Given the description of an element on the screen output the (x, y) to click on. 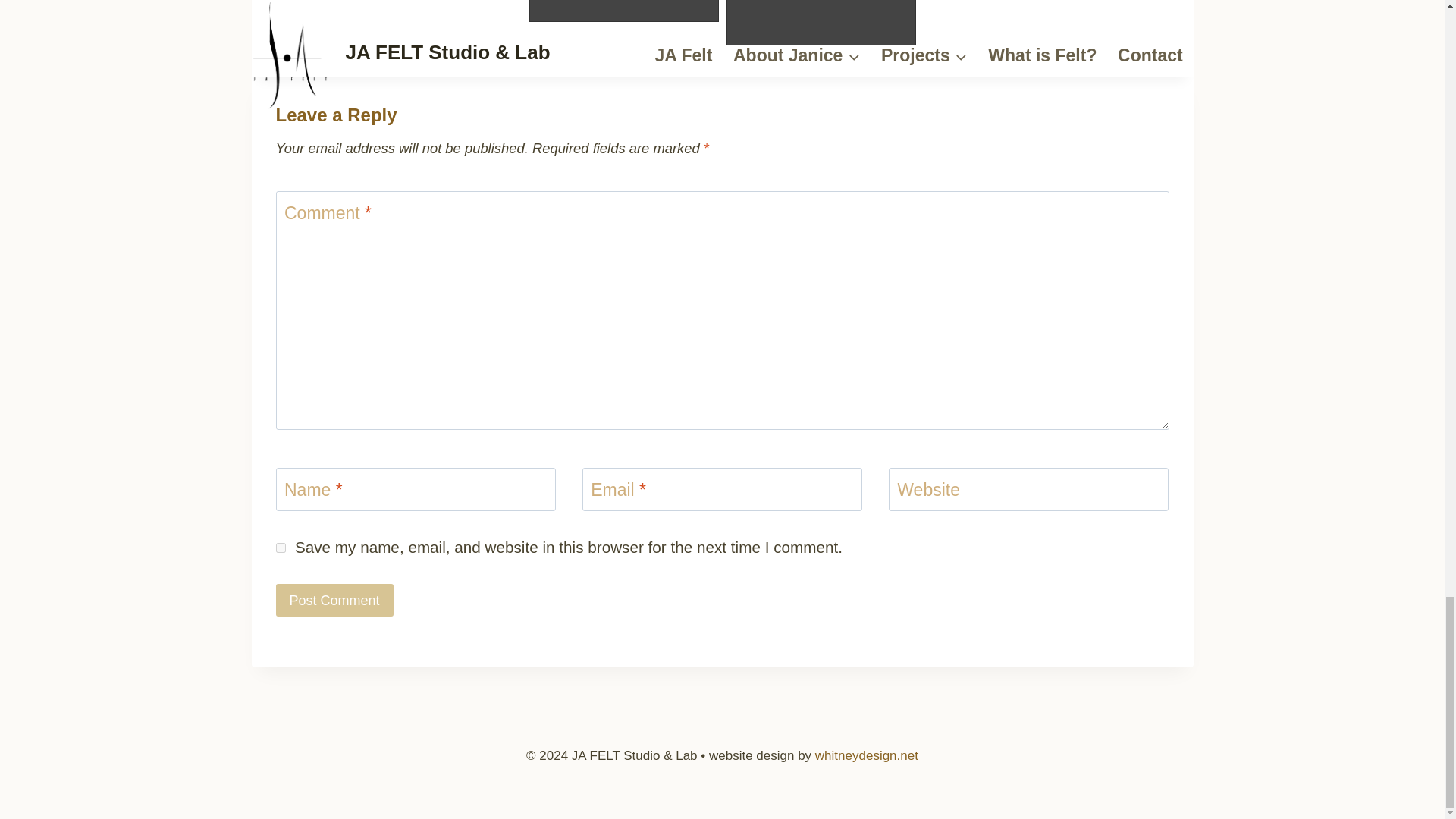
whitneydesign.net (866, 755)
Post Comment (334, 599)
yes (280, 547)
Post Comment (334, 599)
